Given the description of an element on the screen output the (x, y) to click on. 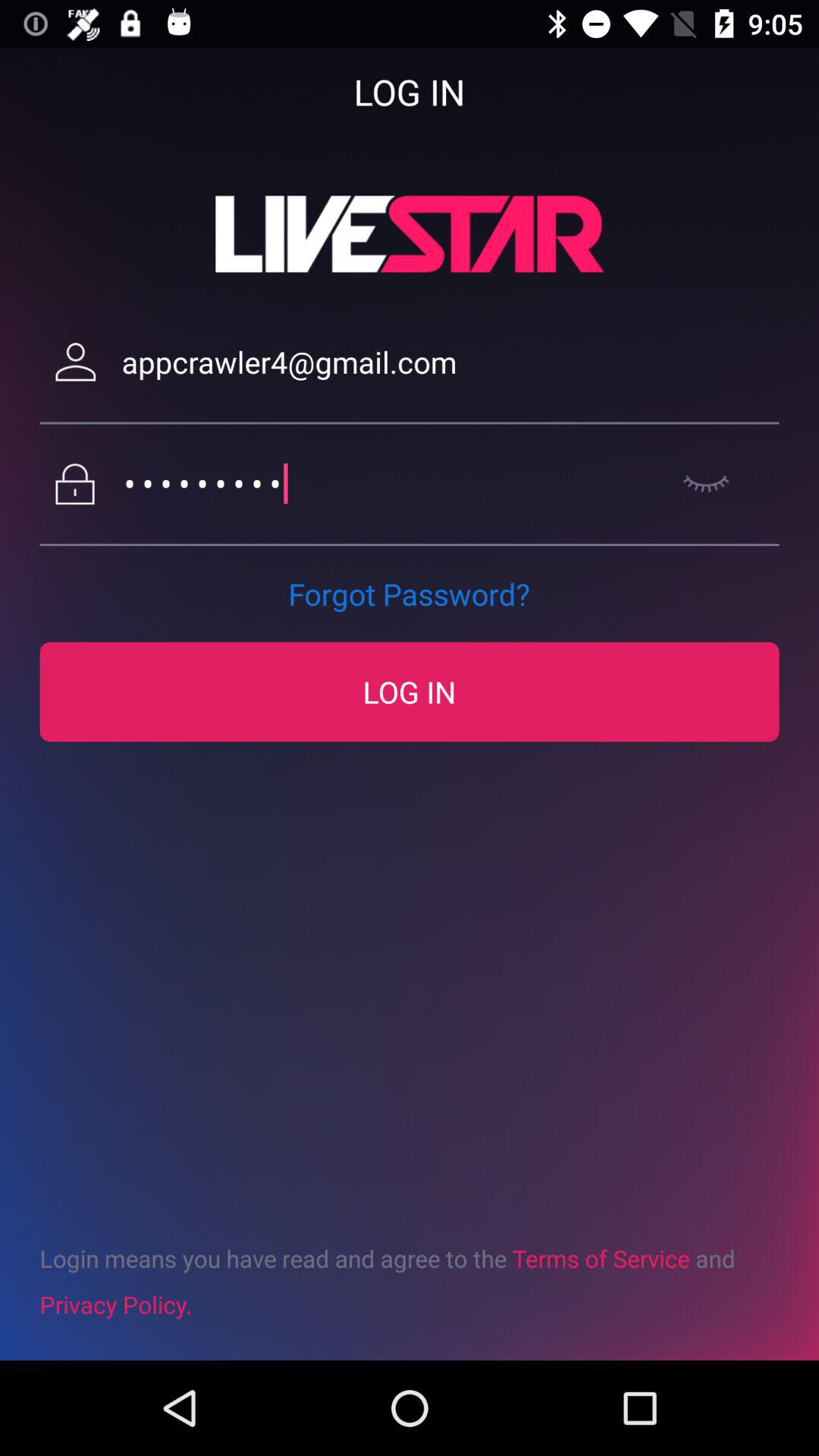
tap the appcrawler4@gmail.com item (450, 362)
